Given the description of an element on the screen output the (x, y) to click on. 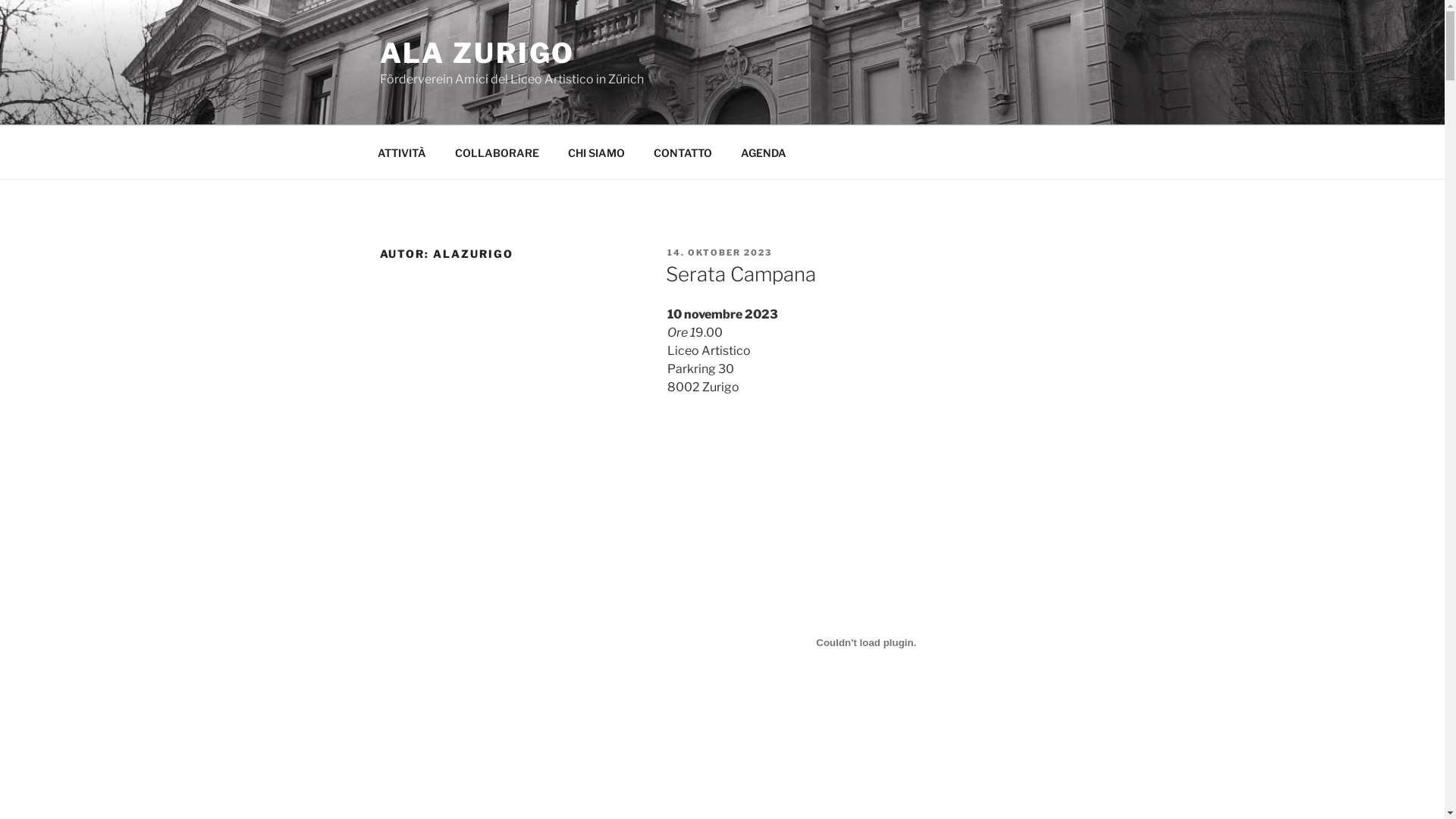
COLLABORARE Element type: text (496, 151)
CONTATTO Element type: text (682, 151)
Serata Campana Element type: text (740, 273)
CHI SIAMO Element type: text (596, 151)
14. OKTOBER 2023 Element type: text (719, 252)
ALA ZURIGO Element type: text (476, 52)
AGENDA Element type: text (764, 151)
